Given the description of an element on the screen output the (x, y) to click on. 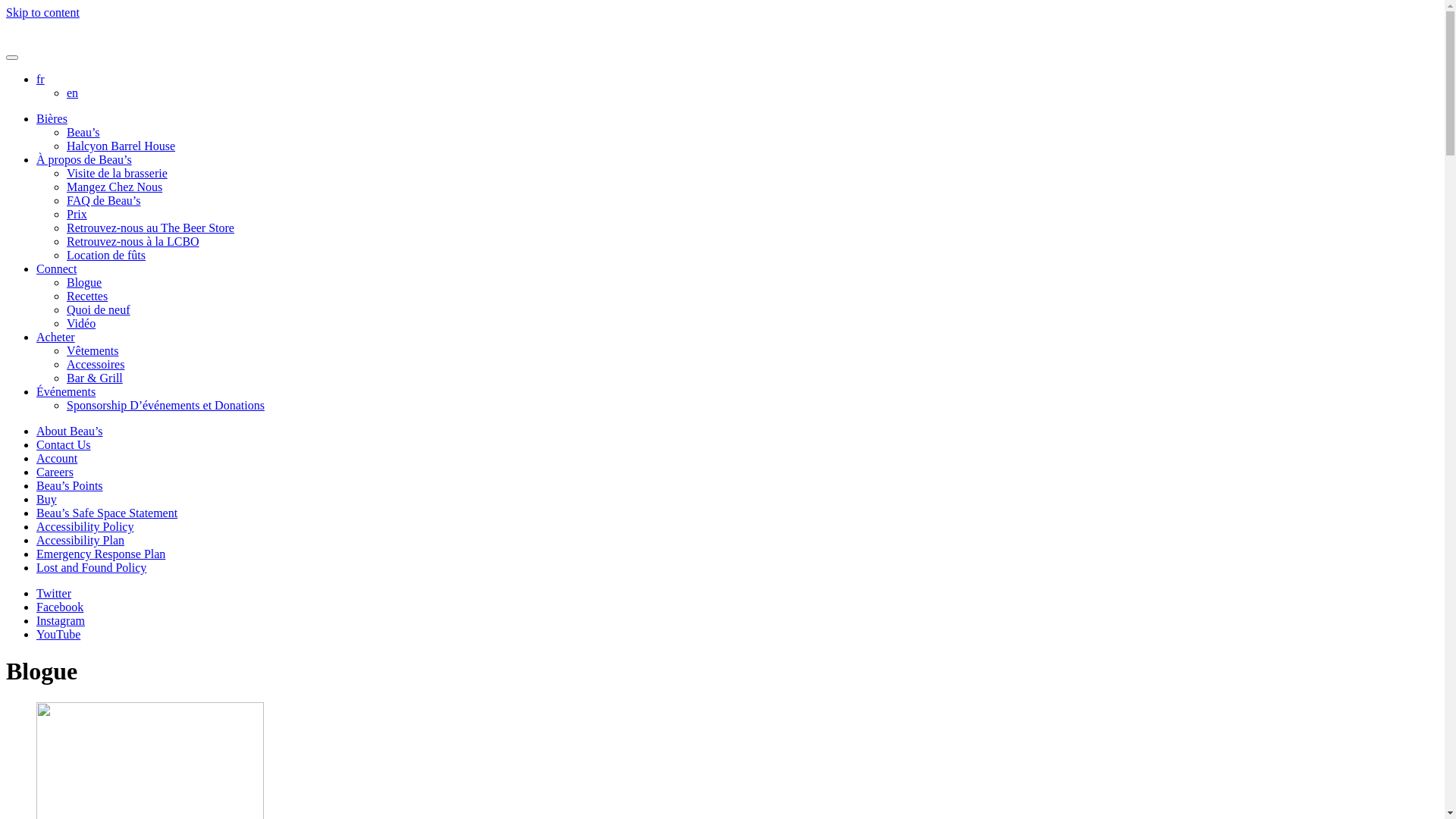
Connect Element type: text (56, 268)
Bar & Grill Element type: text (94, 377)
YouTube Element type: text (58, 633)
Contact Us Element type: text (63, 444)
Visite de la brasserie Element type: text (116, 172)
Emergency Response Plan Element type: text (100, 553)
Buy Element type: text (46, 498)
Instagram Element type: text (60, 620)
Mangez Chez Nous Element type: text (114, 186)
Halcyon Barrel House Element type: text (120, 145)
Careers Element type: text (54, 471)
Prix Element type: text (76, 213)
Lost and Found Policy Element type: text (91, 567)
Account Element type: text (56, 457)
Accessoires Element type: text (95, 363)
en Element type: text (72, 92)
Acheter Element type: text (55, 336)
Quoi de neuf Element type: text (98, 309)
Facebook Element type: text (59, 606)
fr Element type: text (40, 78)
Retrouvez-nous au The Beer Store Element type: text (150, 227)
Recettes Element type: text (86, 295)
Twitter Element type: text (53, 592)
Skip to content Element type: text (42, 12)
Accessibility Policy Element type: text (84, 526)
Accessibility Plan Element type: text (80, 539)
Blogue Element type: text (83, 282)
